Given the description of an element on the screen output the (x, y) to click on. 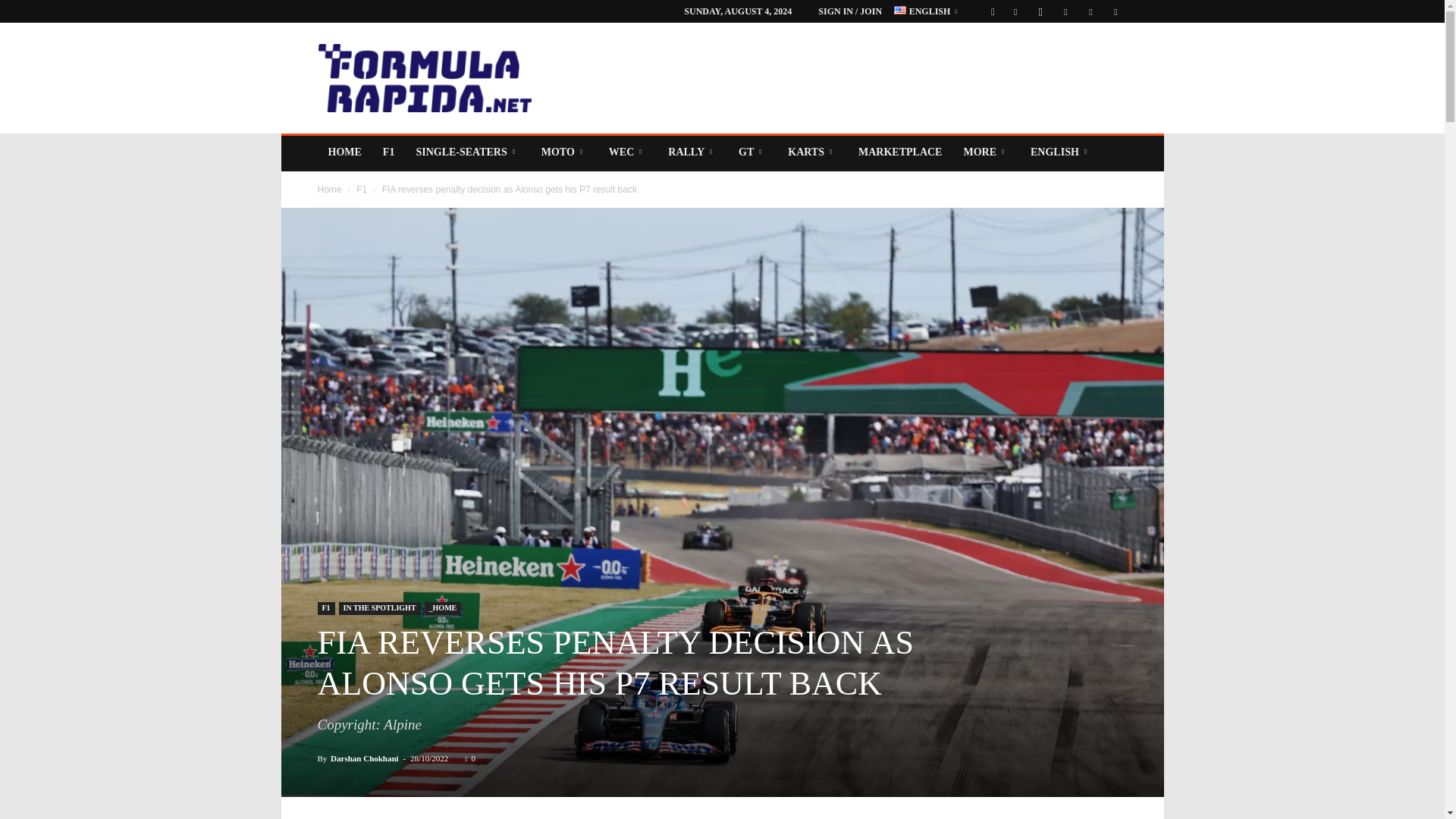
Twitter (1090, 11)
Linkedin (1065, 11)
View all posts in F1 (361, 189)
Instagram (1040, 11)
Facebook (1015, 11)
Youtube (1114, 11)
